Given the description of an element on the screen output the (x, y) to click on. 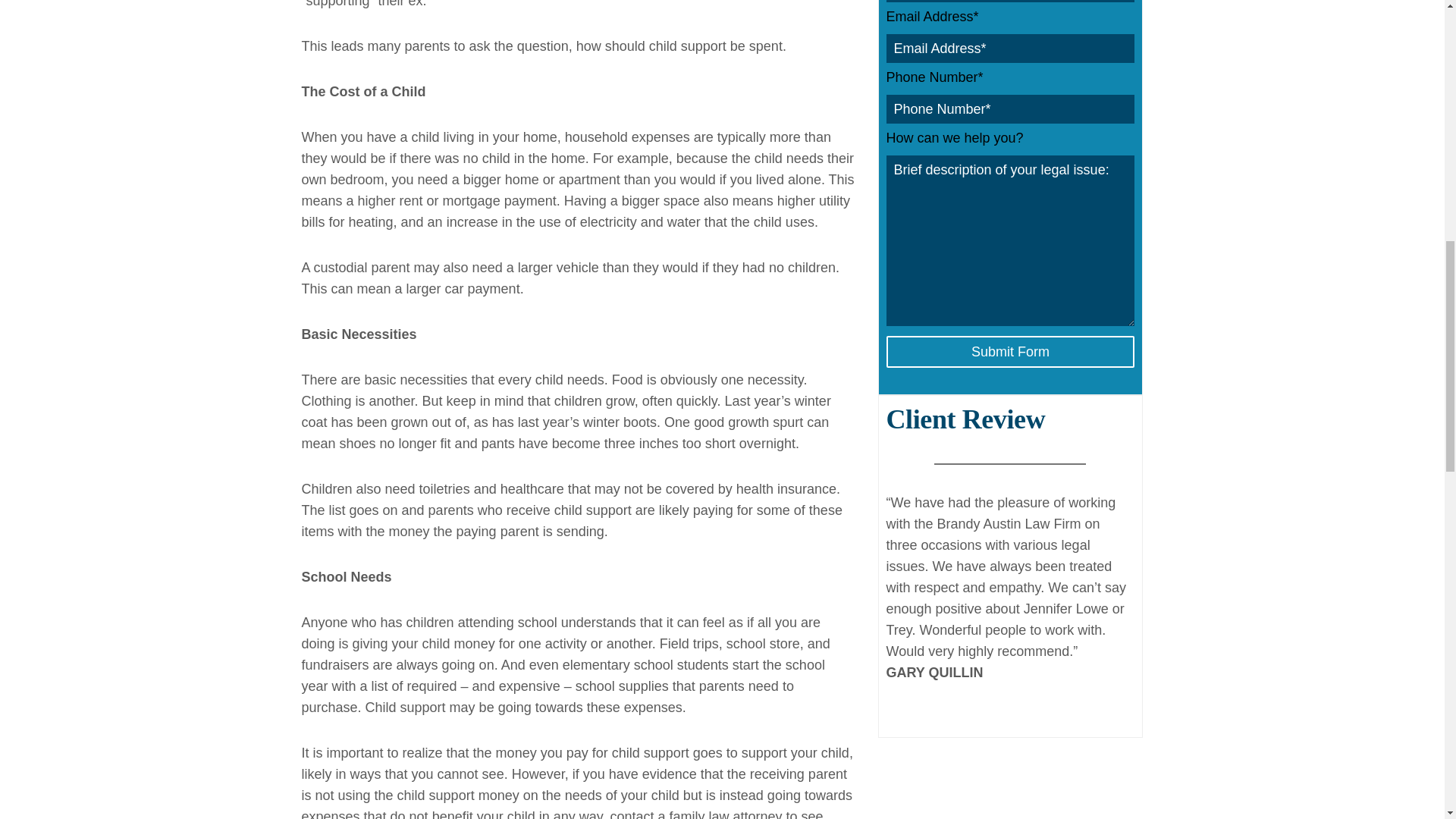
Submit Form (1009, 351)
